Given the description of an element on the screen output the (x, y) to click on. 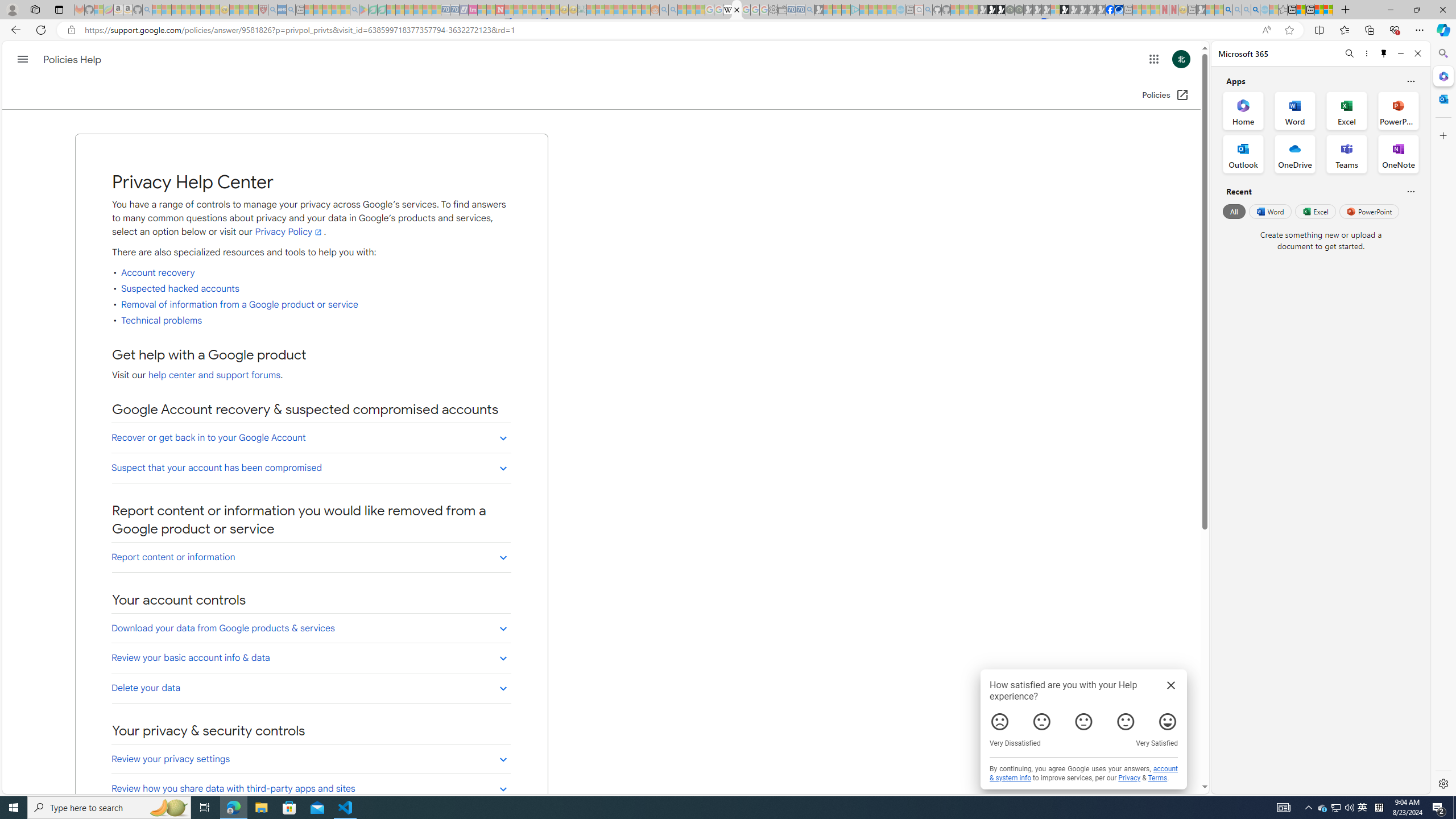
Close user survey dialog (1170, 685)
Policies Help (73, 59)
Home Office App (1243, 110)
Review how you share data with third-party apps and sites (311, 788)
